Given the description of an element on the screen output the (x, y) to click on. 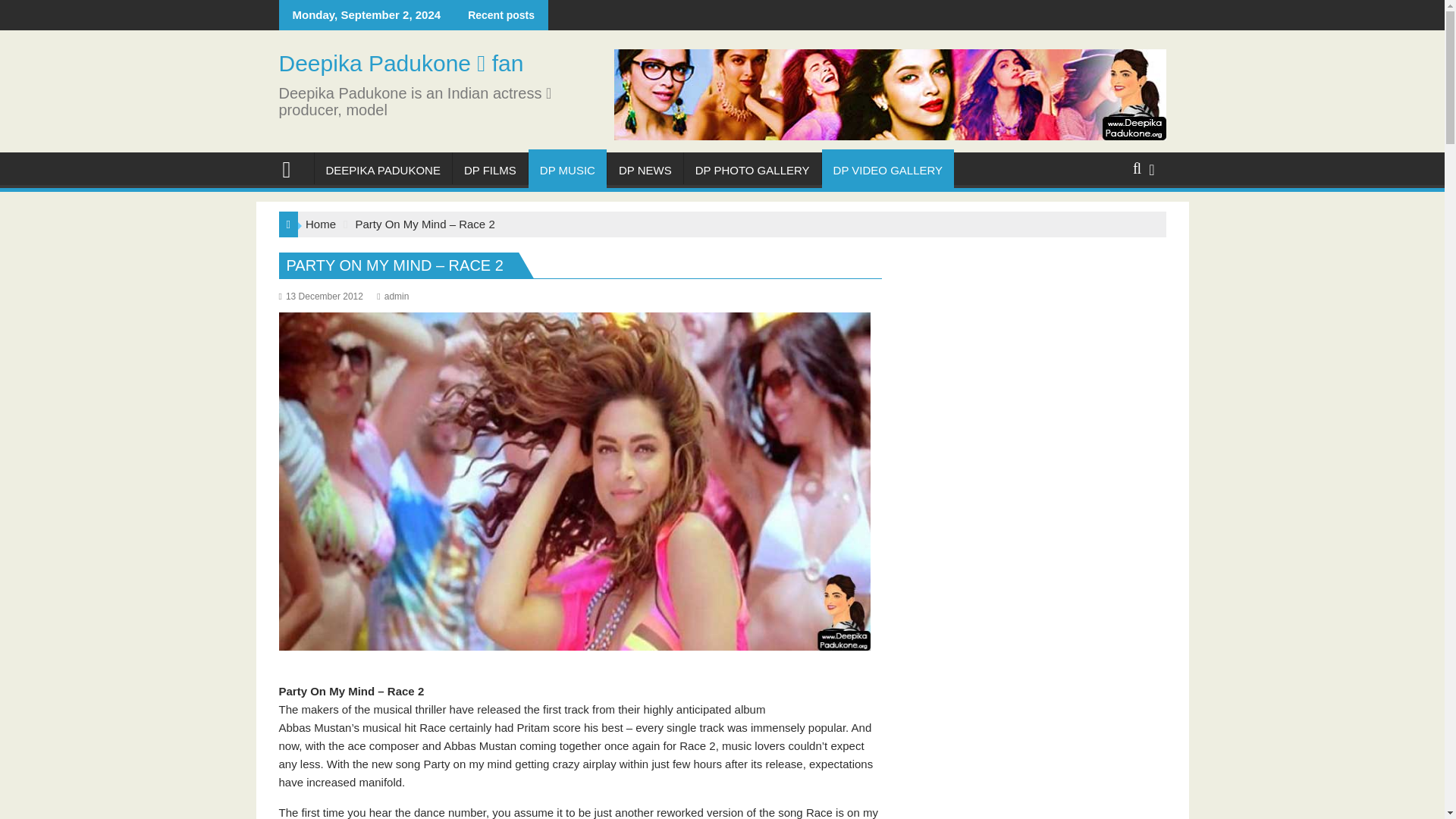
Home (320, 223)
DEEPIKA PADUKONE (382, 170)
DP NEWS (644, 170)
13 December 2012 (320, 296)
DP PHOTO GALLERY (752, 170)
admin (393, 296)
DP VIDEO GALLERY (888, 170)
DP FILMS (489, 170)
DP MUSIC (567, 170)
